Given the description of an element on the screen output the (x, y) to click on. 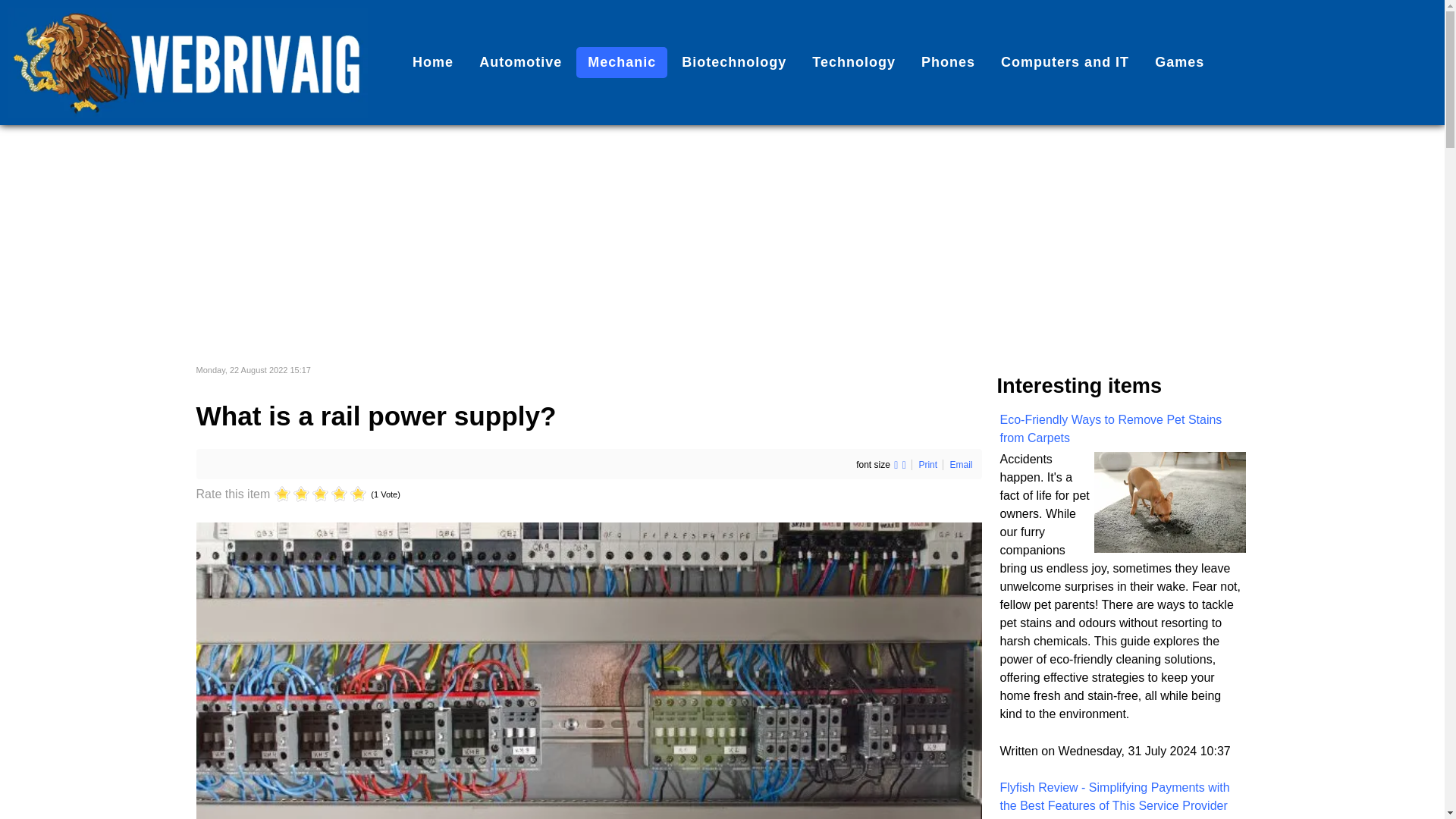
4 (311, 494)
Games - players and entertainment (1178, 61)
Phones (948, 61)
Automotive (520, 61)
1 star out of 5 (282, 494)
Games (1178, 61)
Webrivaig.com - Tech and automotive platform (432, 61)
2 (292, 494)
Mechanic (621, 61)
Print (928, 464)
